Given the description of an element on the screen output the (x, y) to click on. 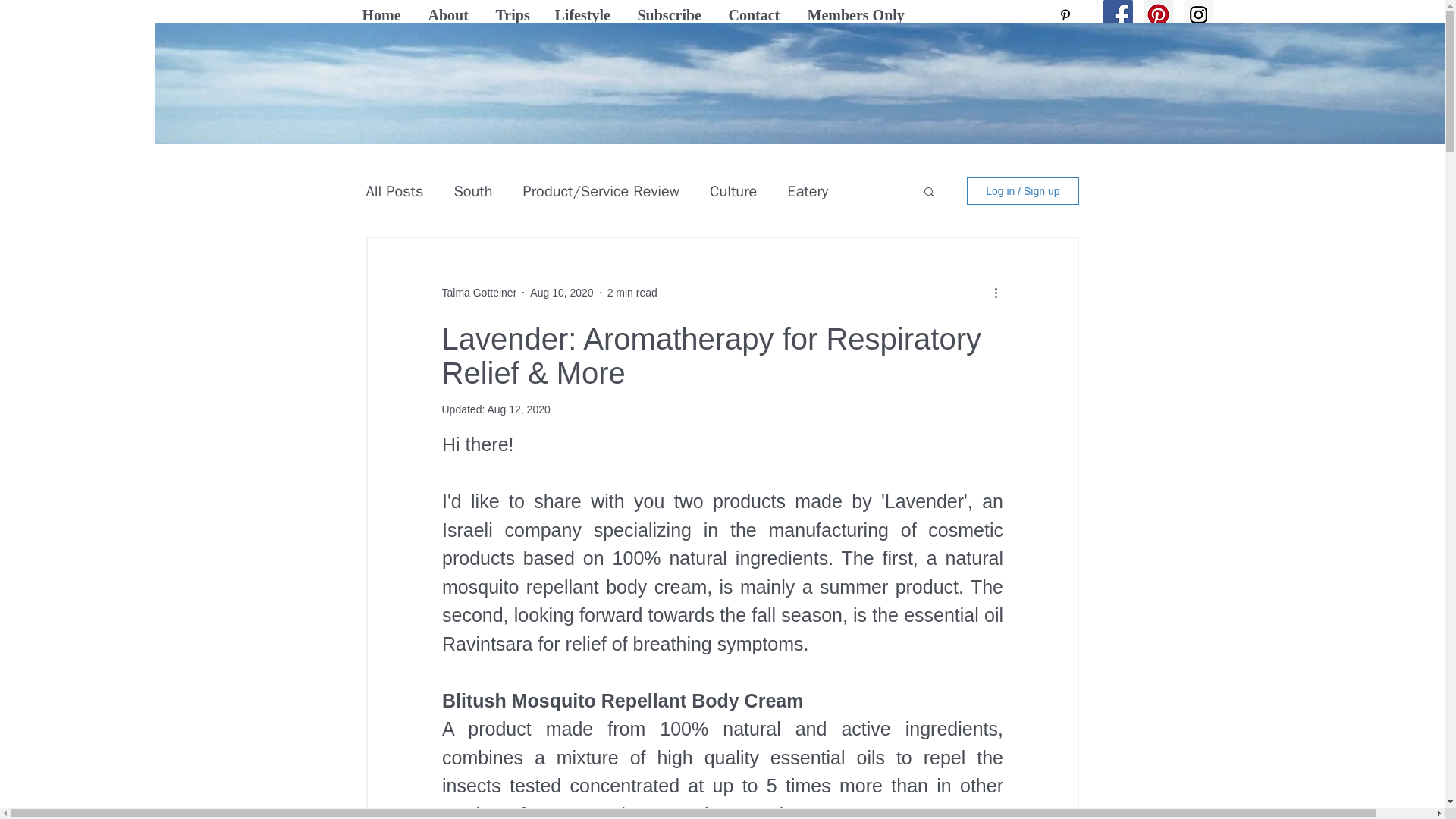
South (472, 190)
Trips (513, 15)
Culture (733, 190)
Eatery (807, 190)
Aug 10, 2020 (560, 292)
Subscribe (671, 15)
Members Only (858, 15)
Aug 12, 2020 (518, 409)
All Posts (394, 190)
Home (383, 15)
Talma Gotteiner (478, 293)
2 min read (632, 292)
Contact (756, 15)
About (450, 15)
